Given the description of an element on the screen output the (x, y) to click on. 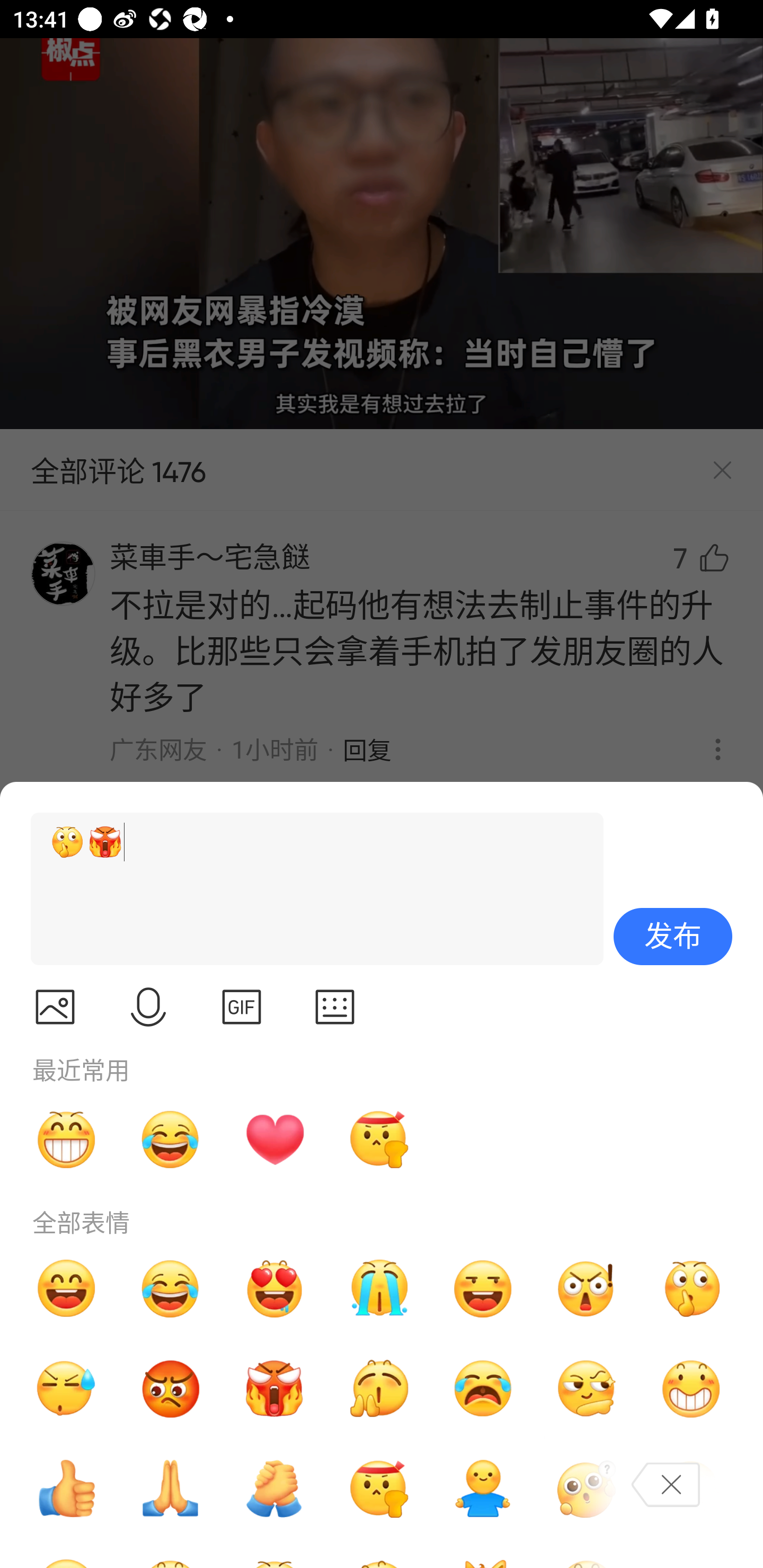
[嘘][愤怒] (308, 888)
发布 (672, 936)
 (54, 1007)
 (148, 1007)
 (241, 1007)
 (334, 1007)
呲牙 (66, 1138)
哭笑 (170, 1138)
心 (274, 1138)
奋斗 (378, 1138)
哈哈 (66, 1288)
哭笑 (170, 1288)
喜欢 (274, 1288)
哭 (378, 1288)
嘿嘿 (482, 1288)
吃惊 (586, 1288)
嘘 (690, 1288)
汗 (66, 1389)
生气 (170, 1389)
愤怒 (274, 1389)
喝彩 (378, 1389)
抓狂 (482, 1389)
机智 (586, 1389)
坏笑 (690, 1389)
点赞 (66, 1488)
缅怀 (170, 1488)
加油 (274, 1488)
奋斗 (378, 1488)
抱抱 (482, 1488)
疑问 (586, 1488)
